Given the description of an element on the screen output the (x, y) to click on. 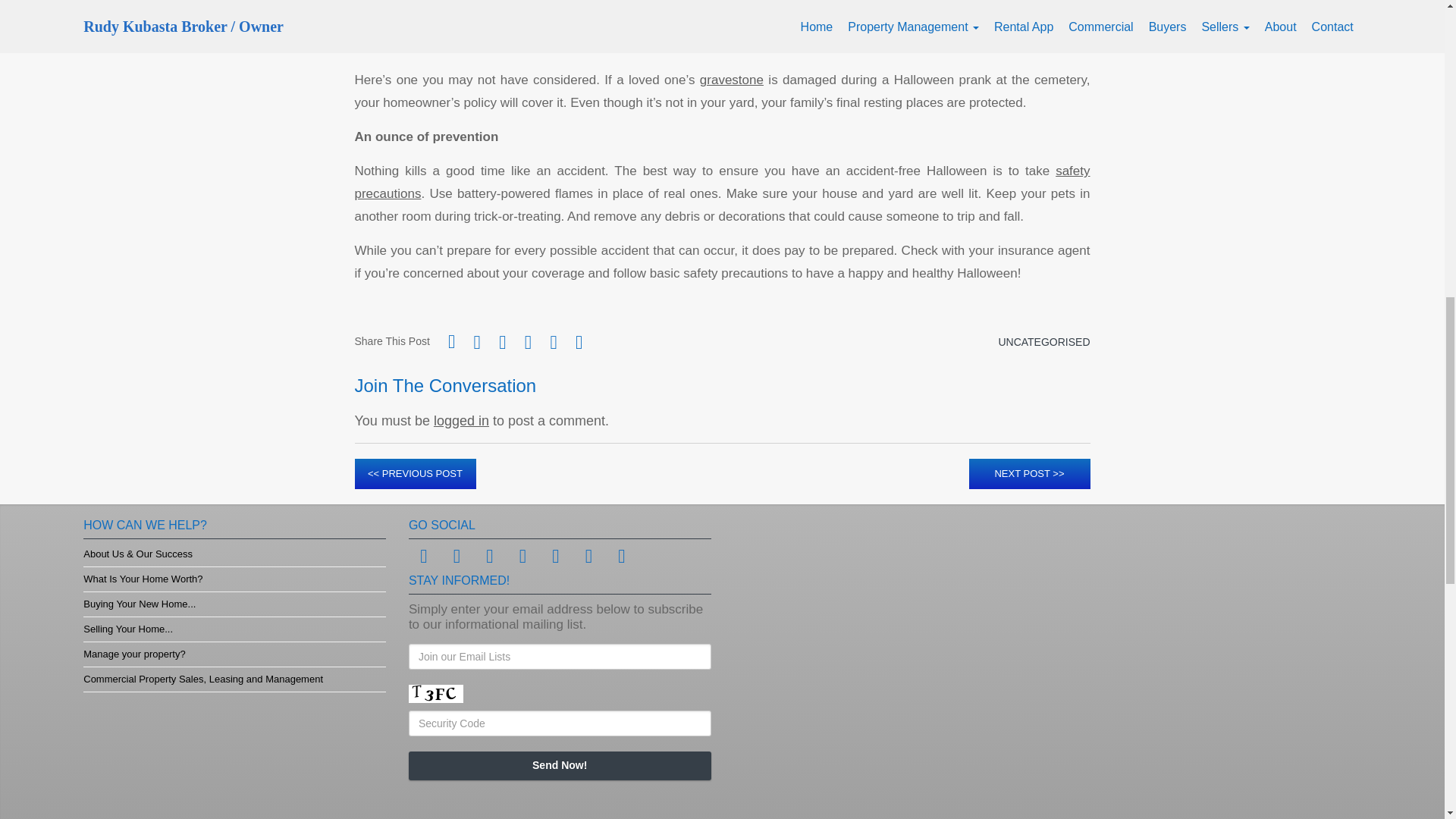
UNCATEGORISED (1043, 341)
logged in (461, 420)
Buying Your New Home... (138, 603)
Manage your property? (133, 654)
Share on LinkedIn (579, 341)
Send Now! (560, 765)
Selling Your Home... (127, 628)
What Is Your Home Worth? (142, 578)
safety precautions (722, 181)
Commercial Property Sales, Leasing and Management (202, 678)
